Given the description of an element on the screen output the (x, y) to click on. 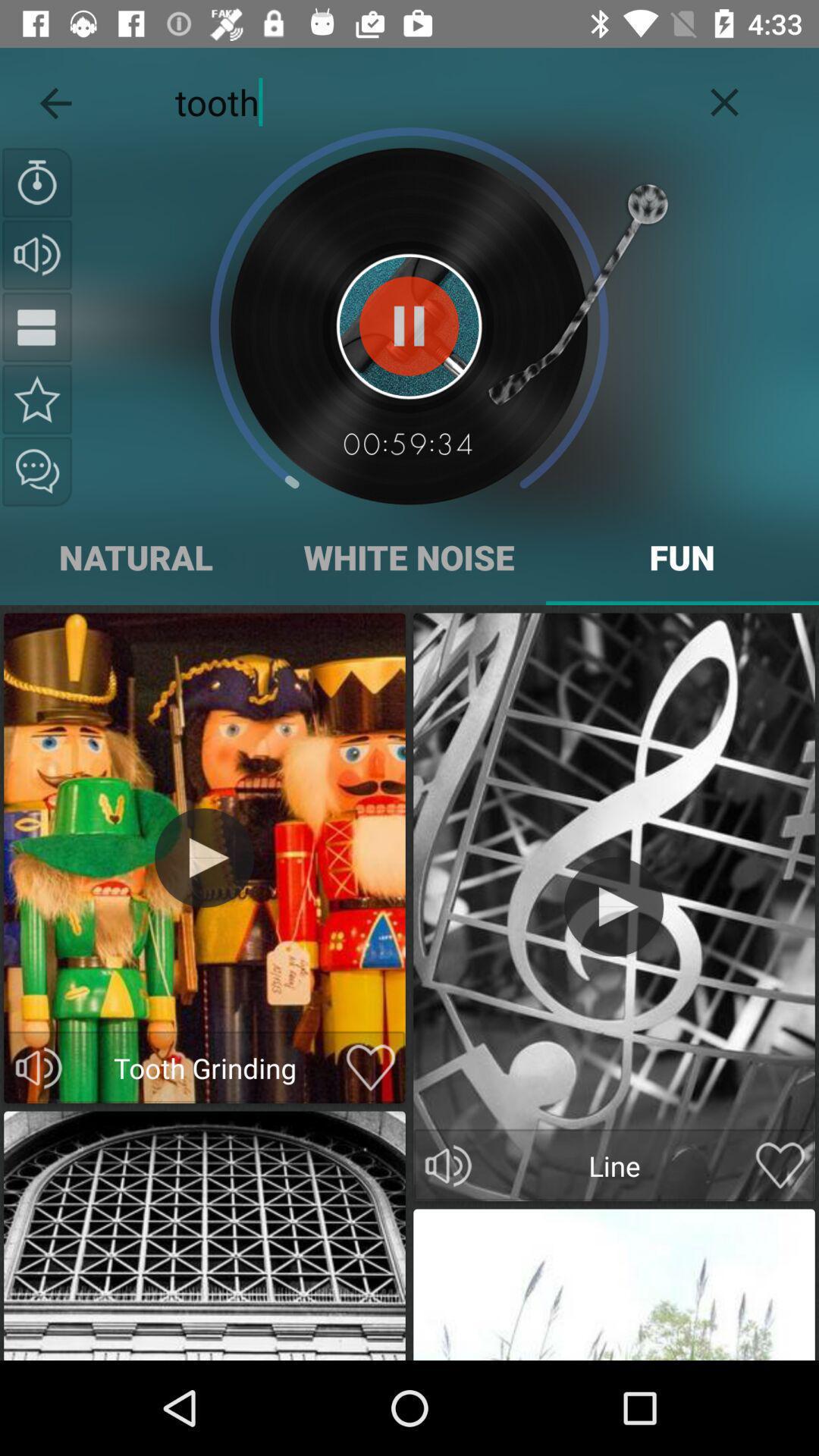
favorite sound file (37, 399)
